Given the description of an element on the screen output the (x, y) to click on. 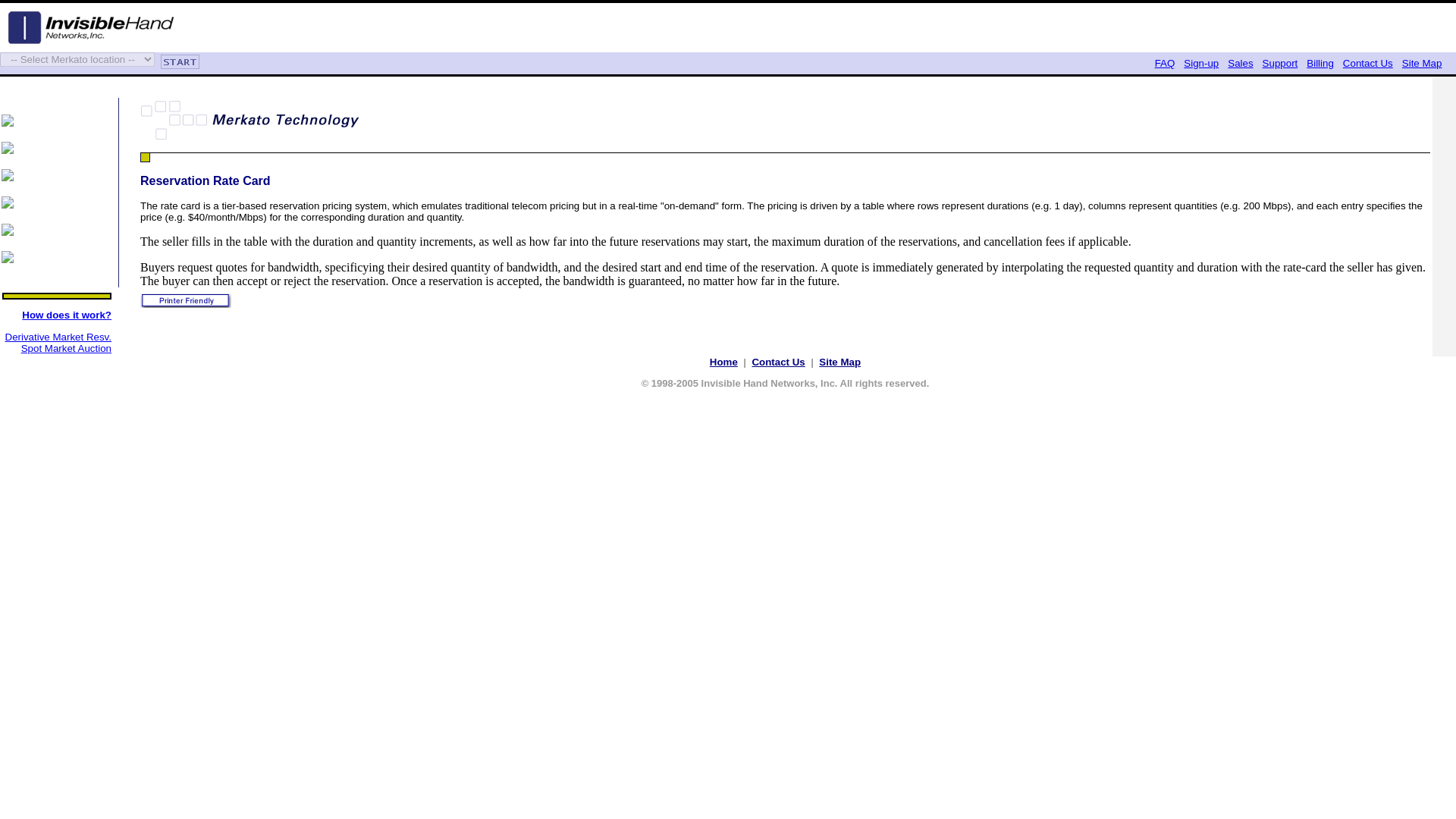
Sign-up (1200, 62)
Sales (1239, 62)
Sign-up (1200, 62)
Site Map (1422, 62)
Home (724, 361)
How does it work? (66, 315)
Derivative Market: Hold Option Reservation (58, 337)
Support (1280, 62)
FAQ (1164, 62)
Site Map (839, 361)
Contact Us (778, 361)
Contact Us (1367, 62)
Home (724, 361)
Spot Market Auction (66, 348)
Contact Us (778, 361)
